Given the description of an element on the screen output the (x, y) to click on. 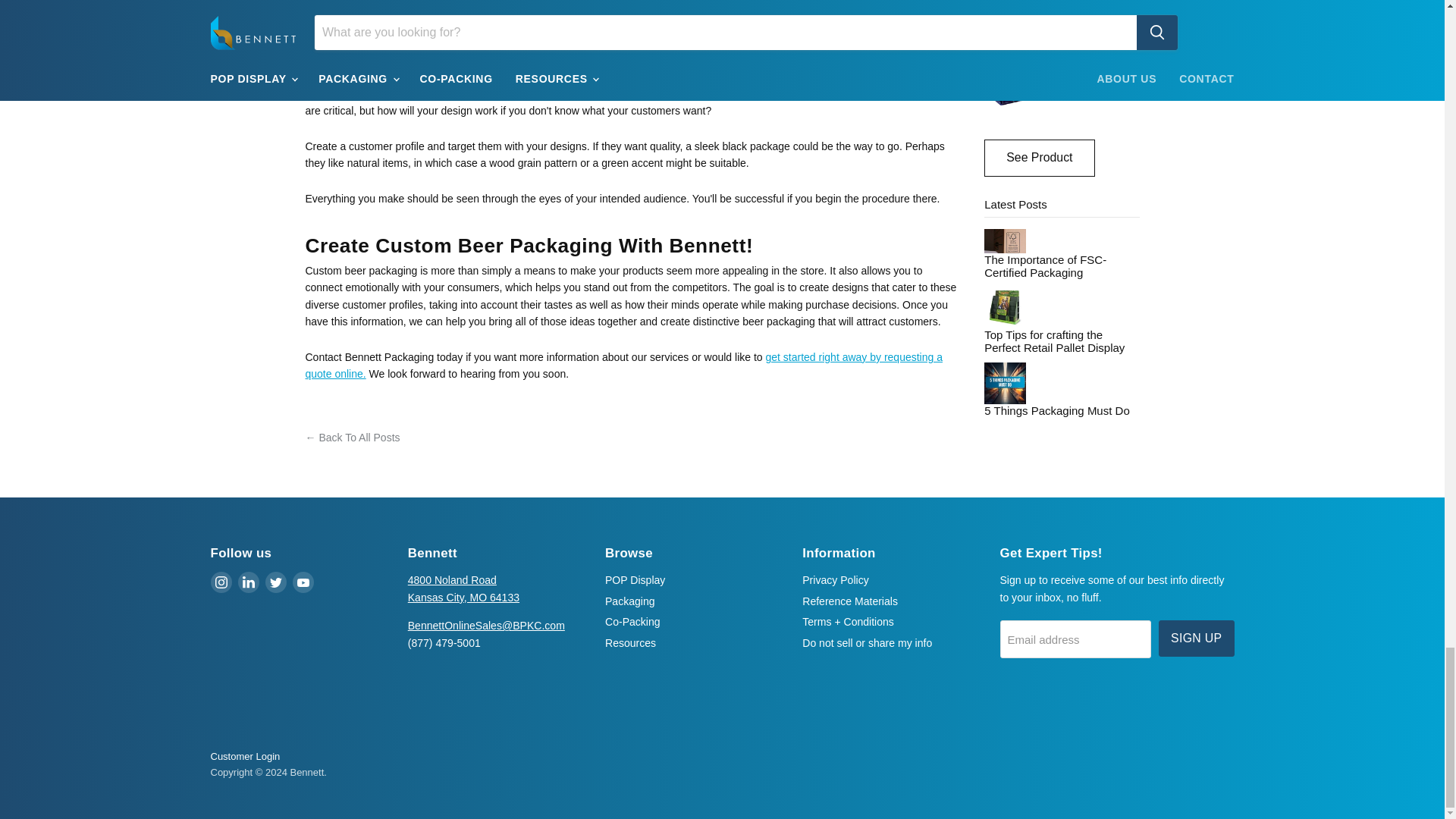
YouTube (303, 581)
Twitter (275, 581)
Instagram (221, 581)
LinkedIn (248, 581)
